Given the description of an element on the screen output the (x, y) to click on. 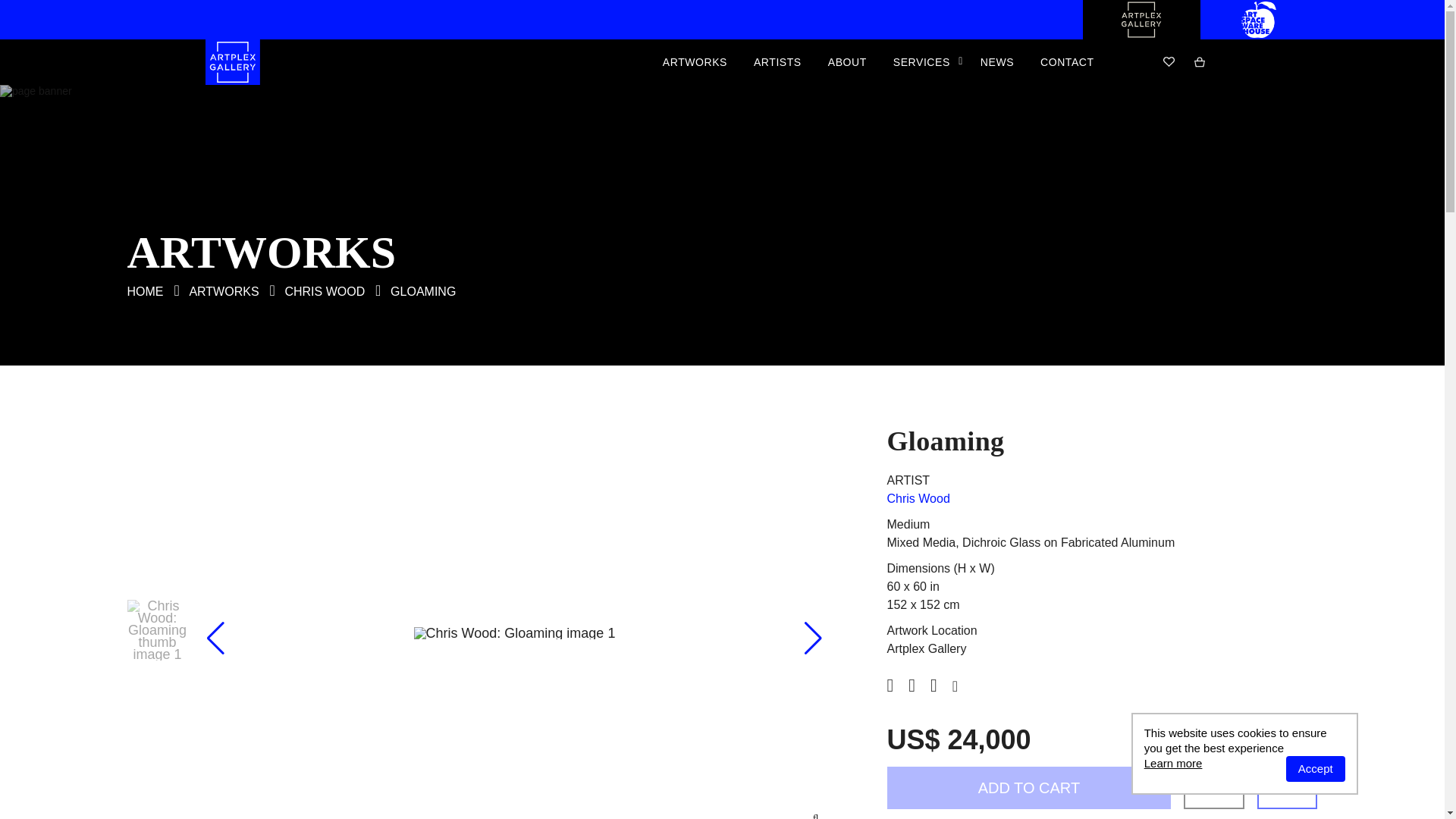
NEWS (997, 62)
HOME (145, 291)
Artplex Gallery Logo (233, 62)
Login (1142, 60)
add to favorites (1213, 787)
ARTWORKS (224, 291)
Favorites (1169, 60)
ARTISTS (777, 62)
print (1287, 787)
CONTACT (1067, 62)
Artplex Gallery Logo (1141, 35)
SERVICES (923, 62)
ABOUT (846, 62)
Shopping Cart (1199, 60)
ARTWORKS (694, 62)
